Given the description of an element on the screen output the (x, y) to click on. 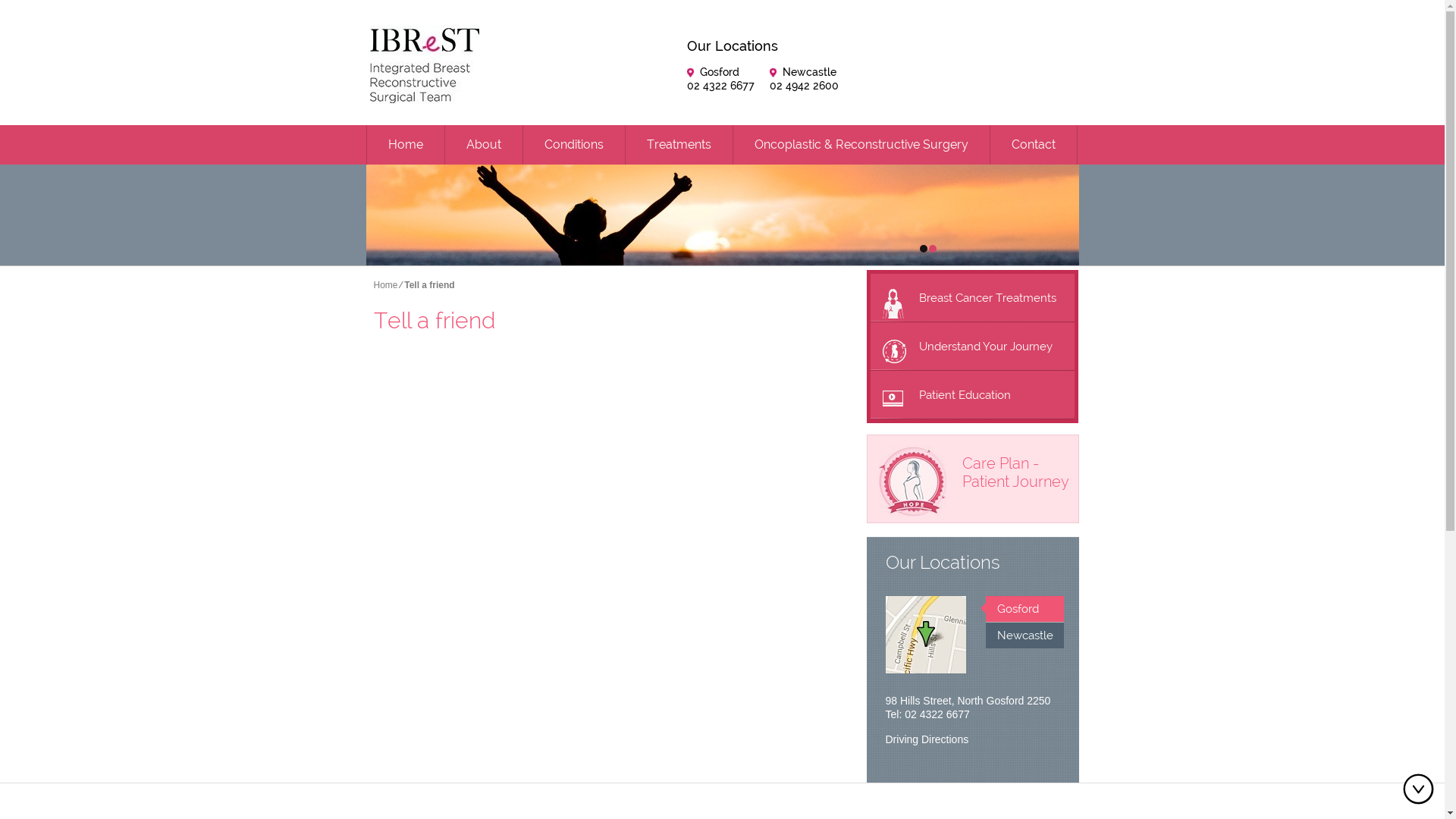
Home Element type: text (405, 144)
Oncoplastic & Reconstructive Surgery Element type: text (860, 144)
Driving Directions Element type: text (927, 739)
Conditions Element type: text (573, 144)
About Element type: text (482, 144)
Patient Education Element type: text (972, 394)
Home Element type: text (385, 284)
Newcastle
02 4942 2600 Element type: text (803, 78)
Newcastle Element type: text (1024, 635)
  Element type: text (931, 248)
Gosford Element type: text (1024, 608)
Care Plan -
Patient Journey Element type: text (972, 462)
Treatments Element type: text (677, 144)
Breast Cancer Treatments Element type: text (972, 297)
Contact Element type: text (1033, 144)
Gosford
02 4322 6677 Element type: text (720, 78)
Our Locations Element type: text (932, 562)
  Element type: text (922, 251)
Understand Your Journey Element type: text (972, 346)
